Given the description of an element on the screen output the (x, y) to click on. 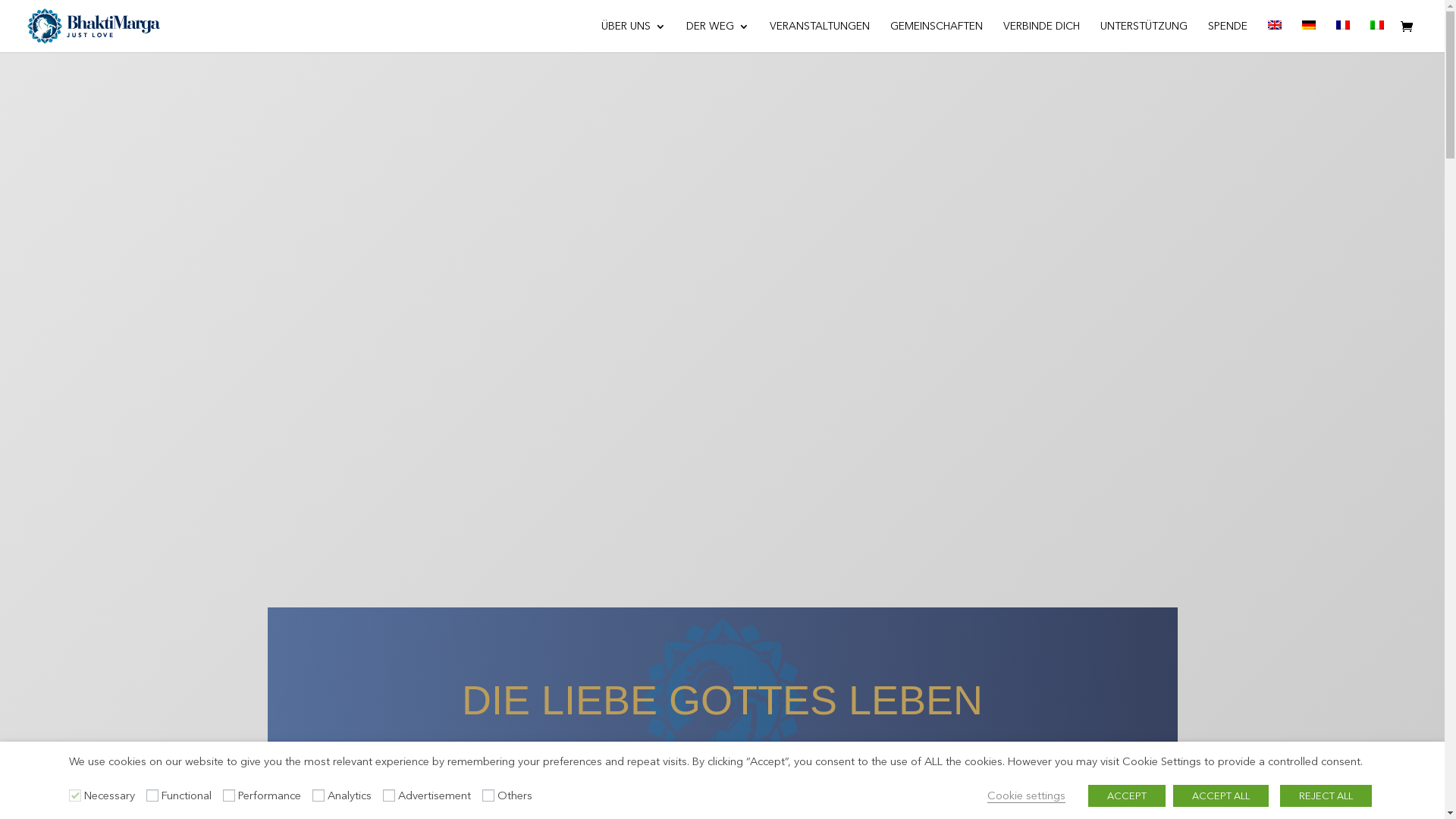
GEMEINSCHAFTEN Element type: text (936, 36)
Cookie settings Element type: text (1026, 795)
VERANSTALTUNGEN Element type: text (819, 36)
VERBINDE DICH Element type: text (1041, 36)
SPENDE Element type: text (1227, 36)
ACCEPT ALL Element type: text (1220, 795)
REJECT ALL Element type: text (1325, 795)
ACCEPT Element type: text (1126, 795)
DER WEG Element type: text (717, 36)
